Given the description of an element on the screen output the (x, y) to click on. 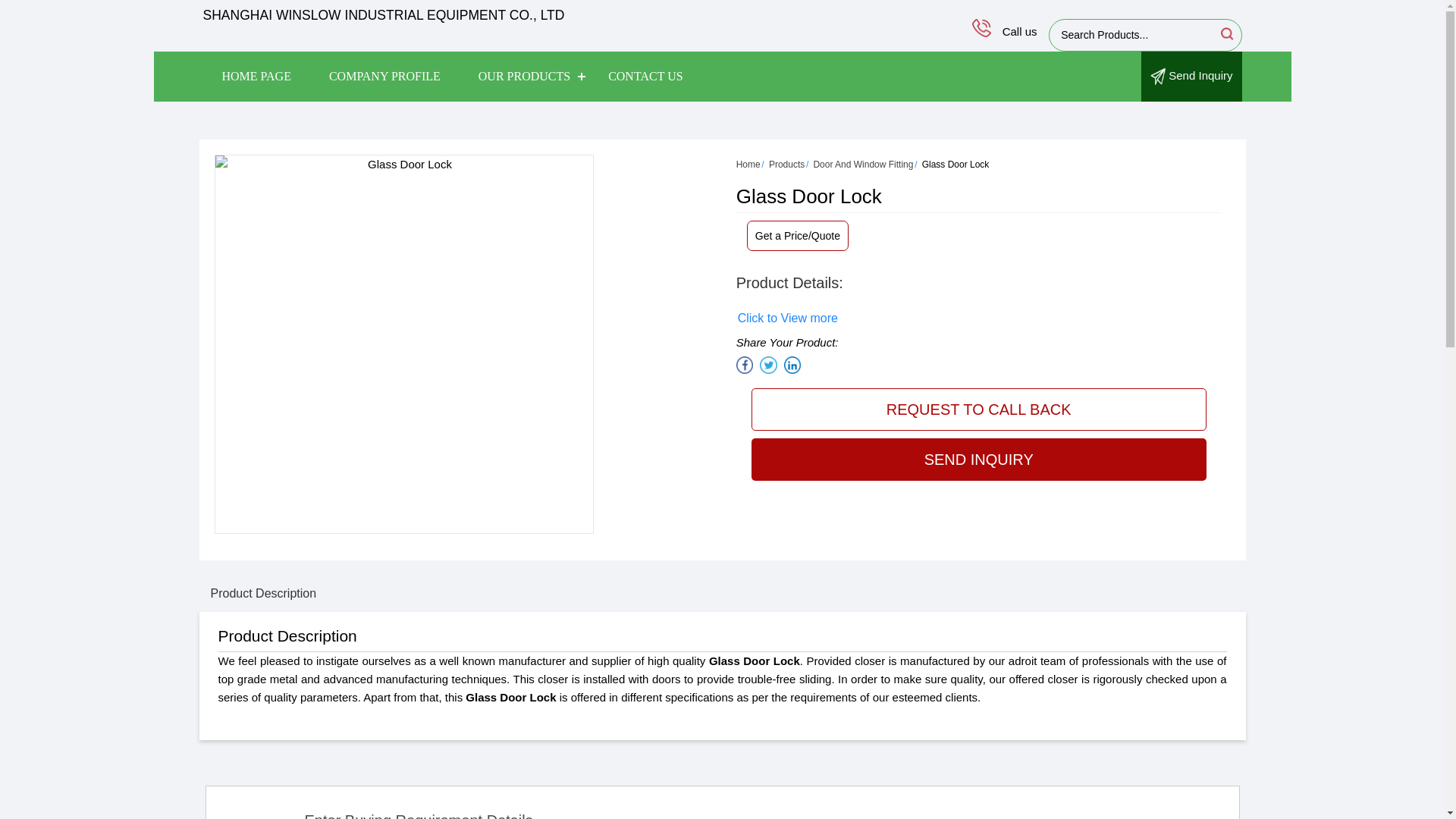
HOME PAGE (256, 76)
OUR PRODUCTS (524, 76)
Door And Window Fitting (862, 163)
Search Products... (1133, 34)
Search (1225, 33)
Home (748, 163)
SEND INQUIRY (979, 459)
REQUEST TO CALL BACK (979, 409)
Product Description (262, 593)
Search Products... (1133, 34)
Products (786, 163)
Send Inquiry (1190, 76)
Click to View more (788, 318)
CONTACT US (645, 76)
submit (1225, 33)
